Given the description of an element on the screen output the (x, y) to click on. 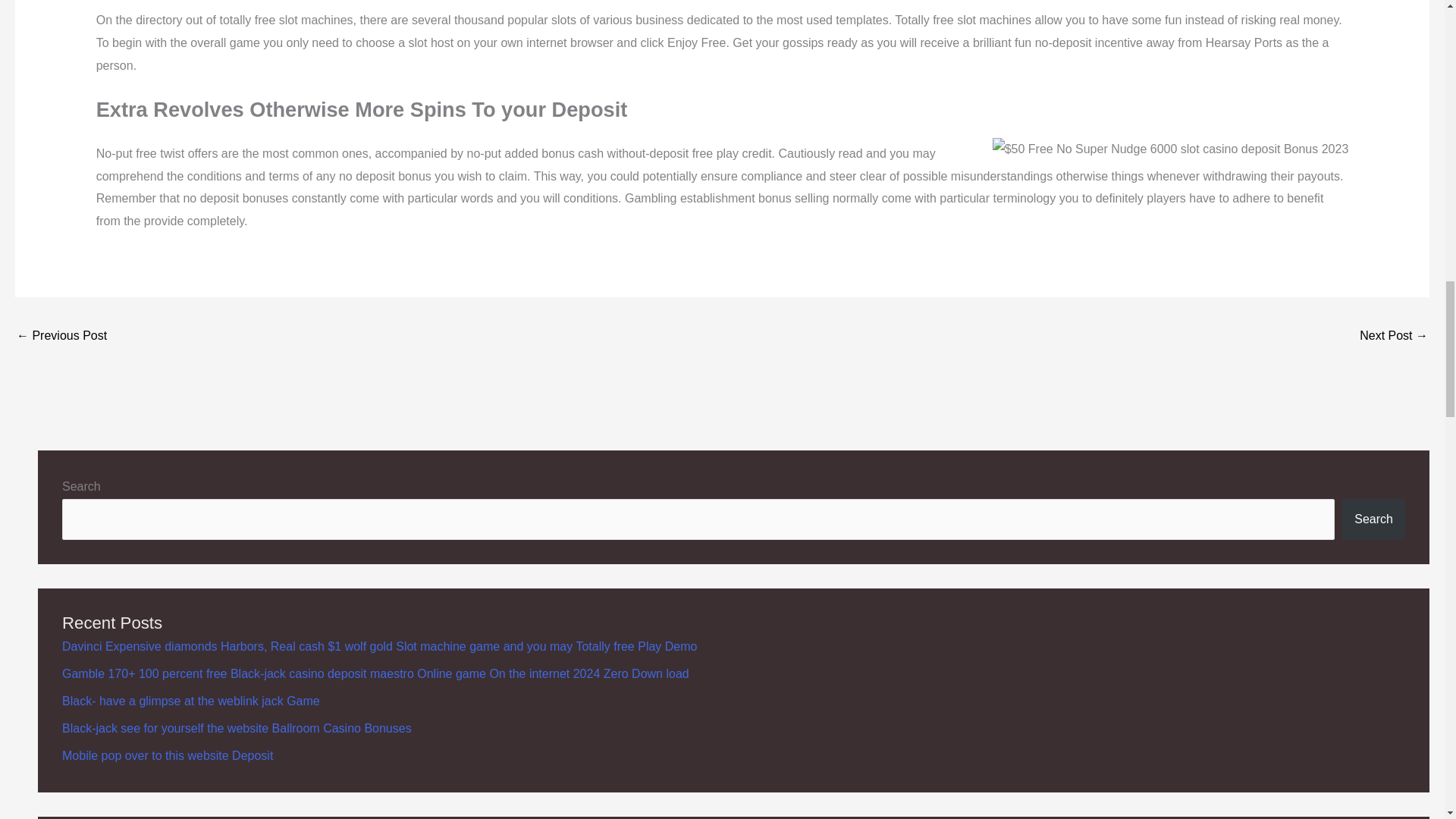
Genius Away from Oz Casino slot games (61, 336)
Black- have a glimpse at the weblink jack Game (191, 700)
Search (1373, 518)
